Given the description of an element on the screen output the (x, y) to click on. 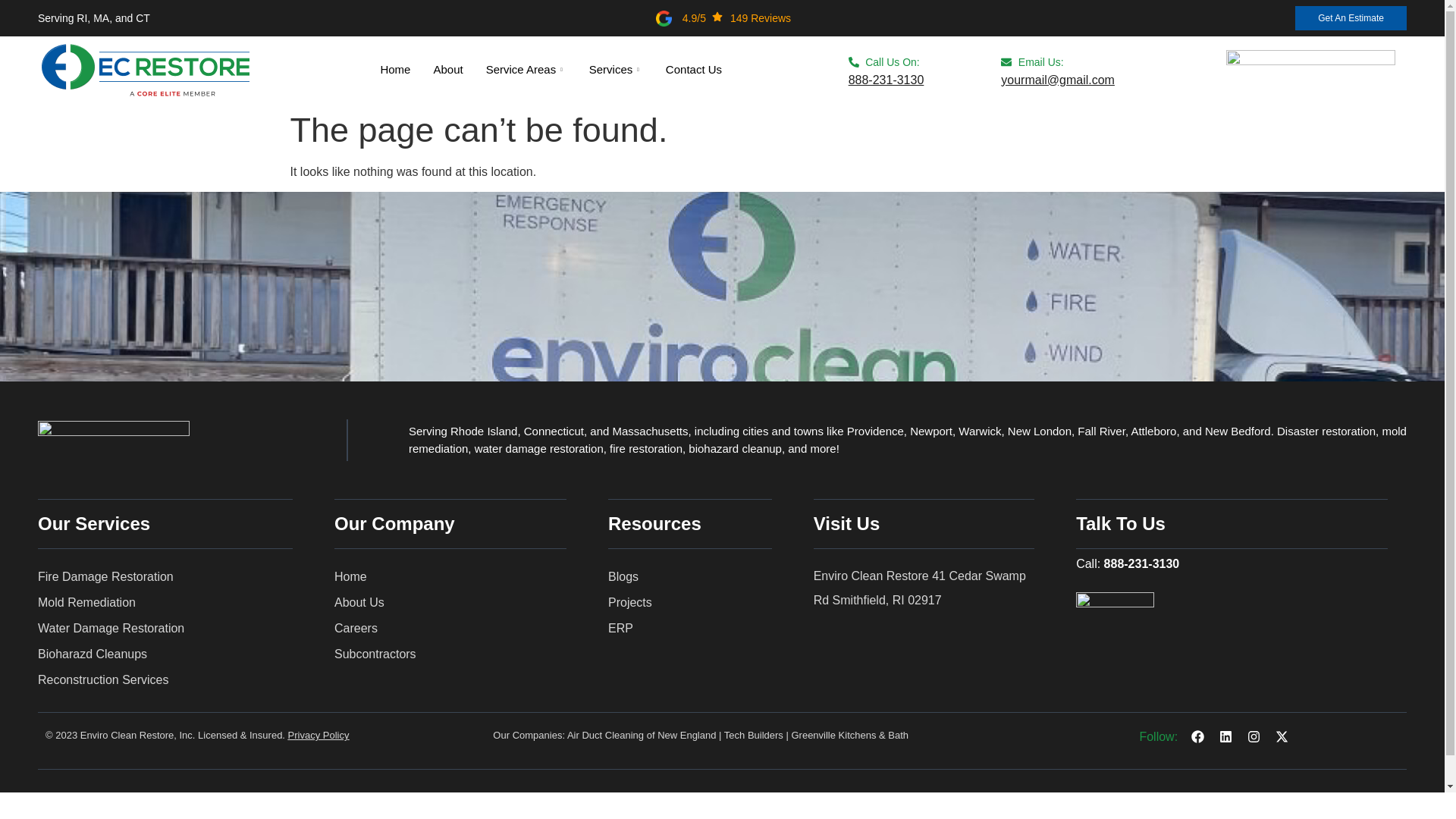
Get An Estimate (1350, 17)
Service Areas (526, 69)
149 Reviews (760, 18)
Home (395, 69)
Services (615, 69)
About (448, 69)
